Given the description of an element on the screen output the (x, y) to click on. 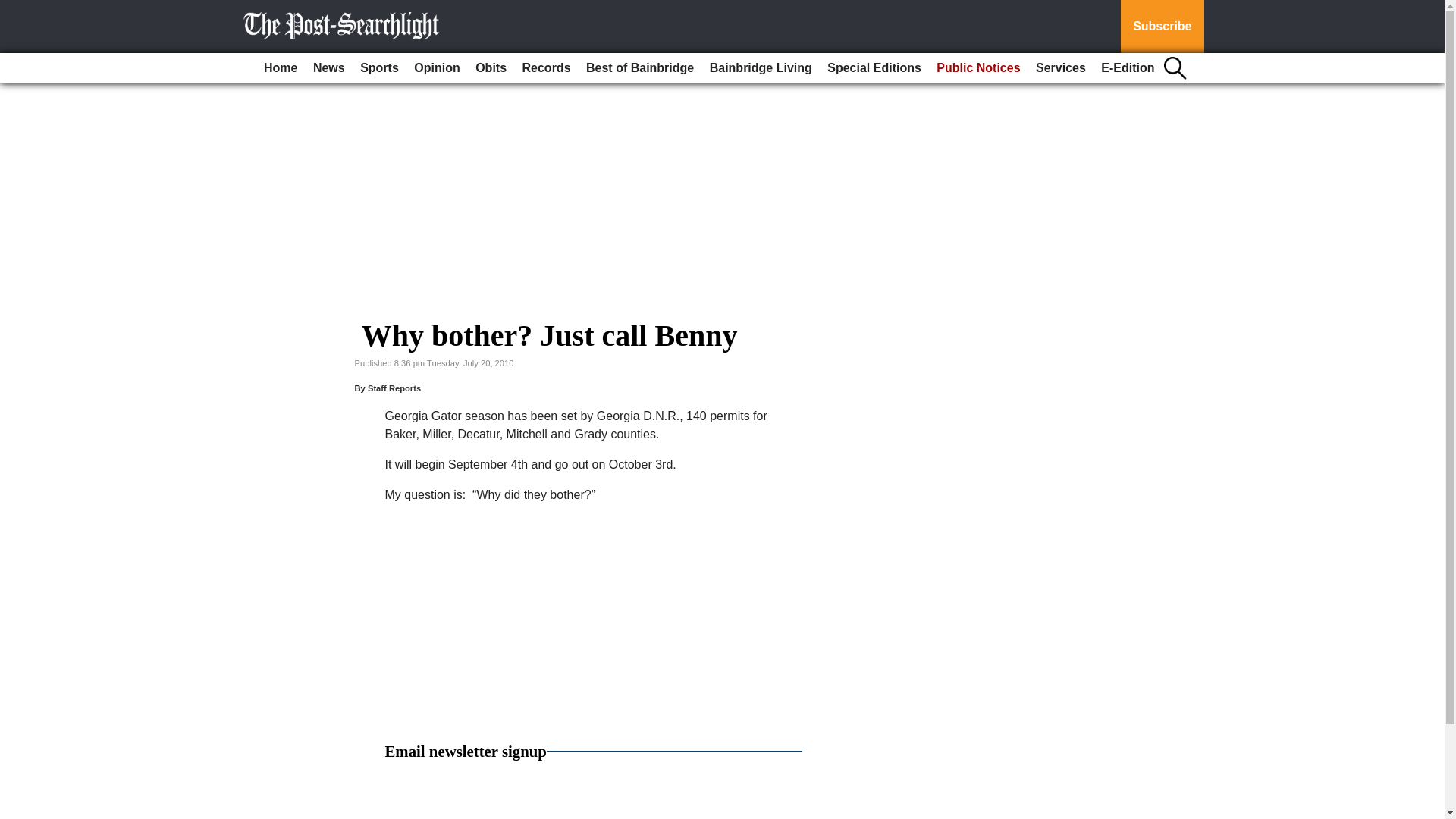
Staff Reports (394, 388)
Subscribe (1162, 26)
Records (546, 68)
Special Editions (874, 68)
Go (13, 9)
Sports (378, 68)
E-Edition (1127, 68)
Opinion (436, 68)
Best of Bainbridge (639, 68)
Bainbridge Living (760, 68)
Services (1060, 68)
News (328, 68)
Public Notices (978, 68)
Obits (490, 68)
Home (279, 68)
